Given the description of an element on the screen output the (x, y) to click on. 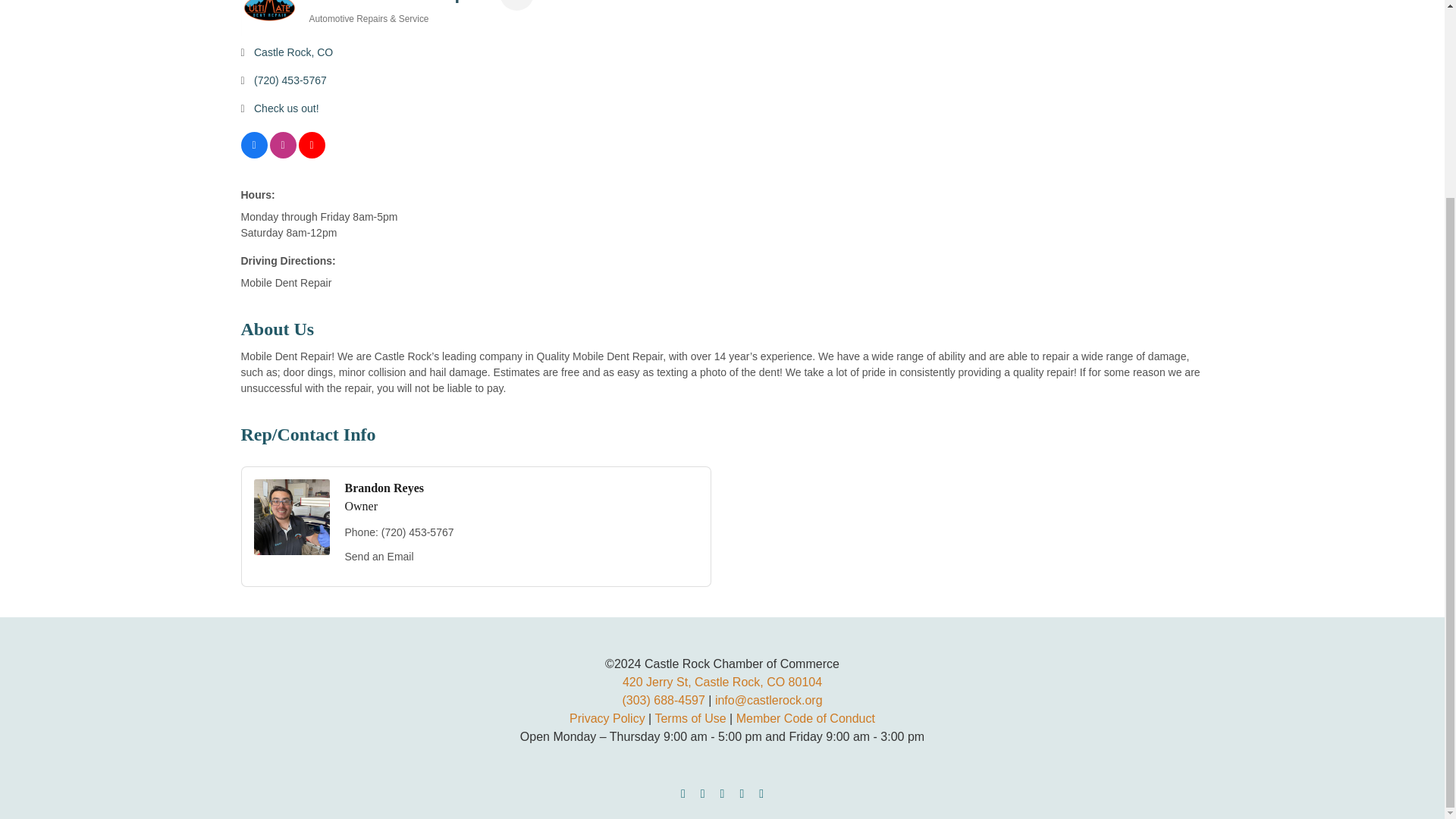
View on Youtube (311, 154)
View on Instagram (283, 154)
View on Facebook (254, 154)
Ultimate Dent Repair (269, 18)
